Given the description of an element on the screen output the (x, y) to click on. 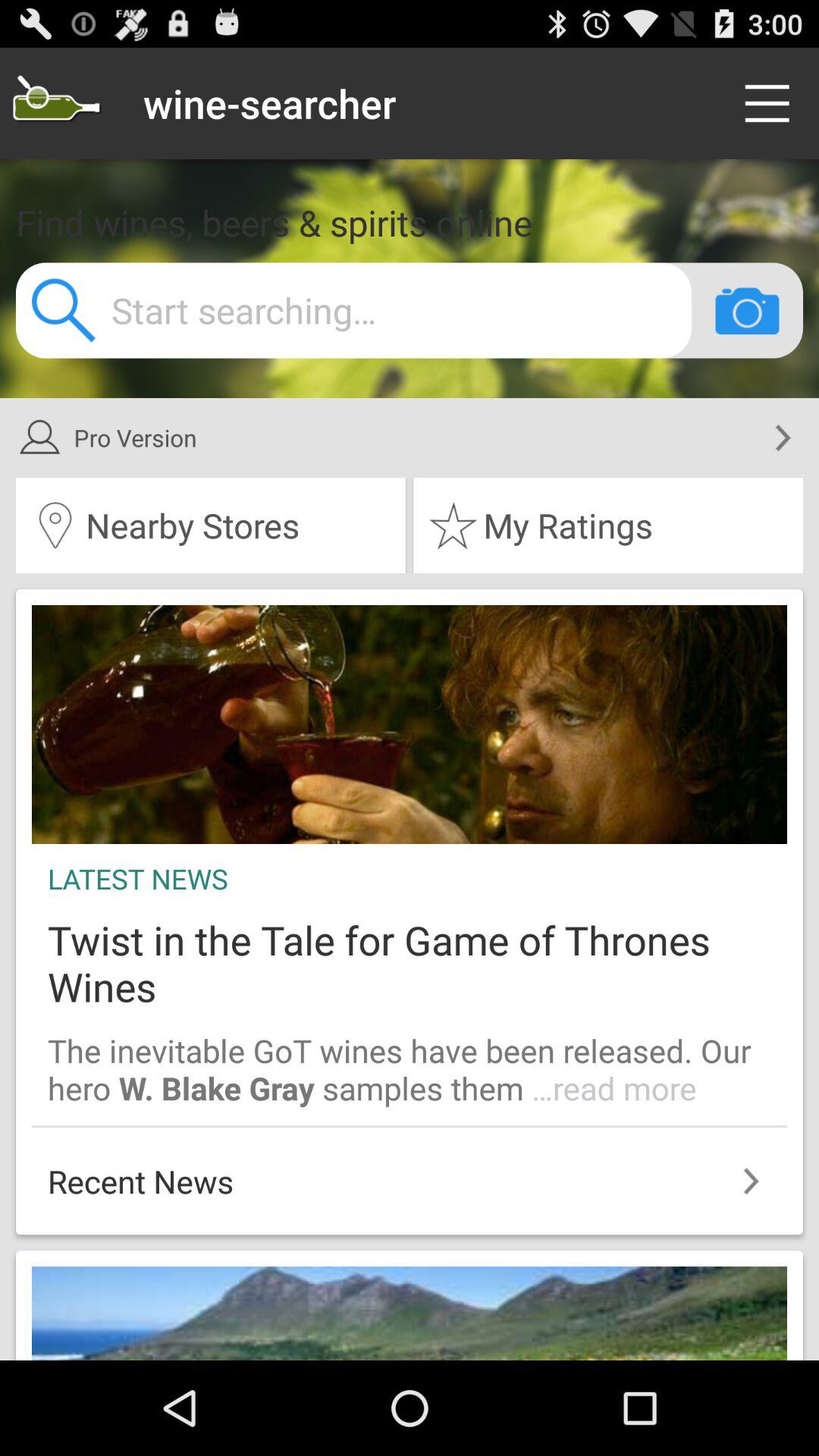
choose nearby stores (210, 525)
